Given the description of an element on the screen output the (x, y) to click on. 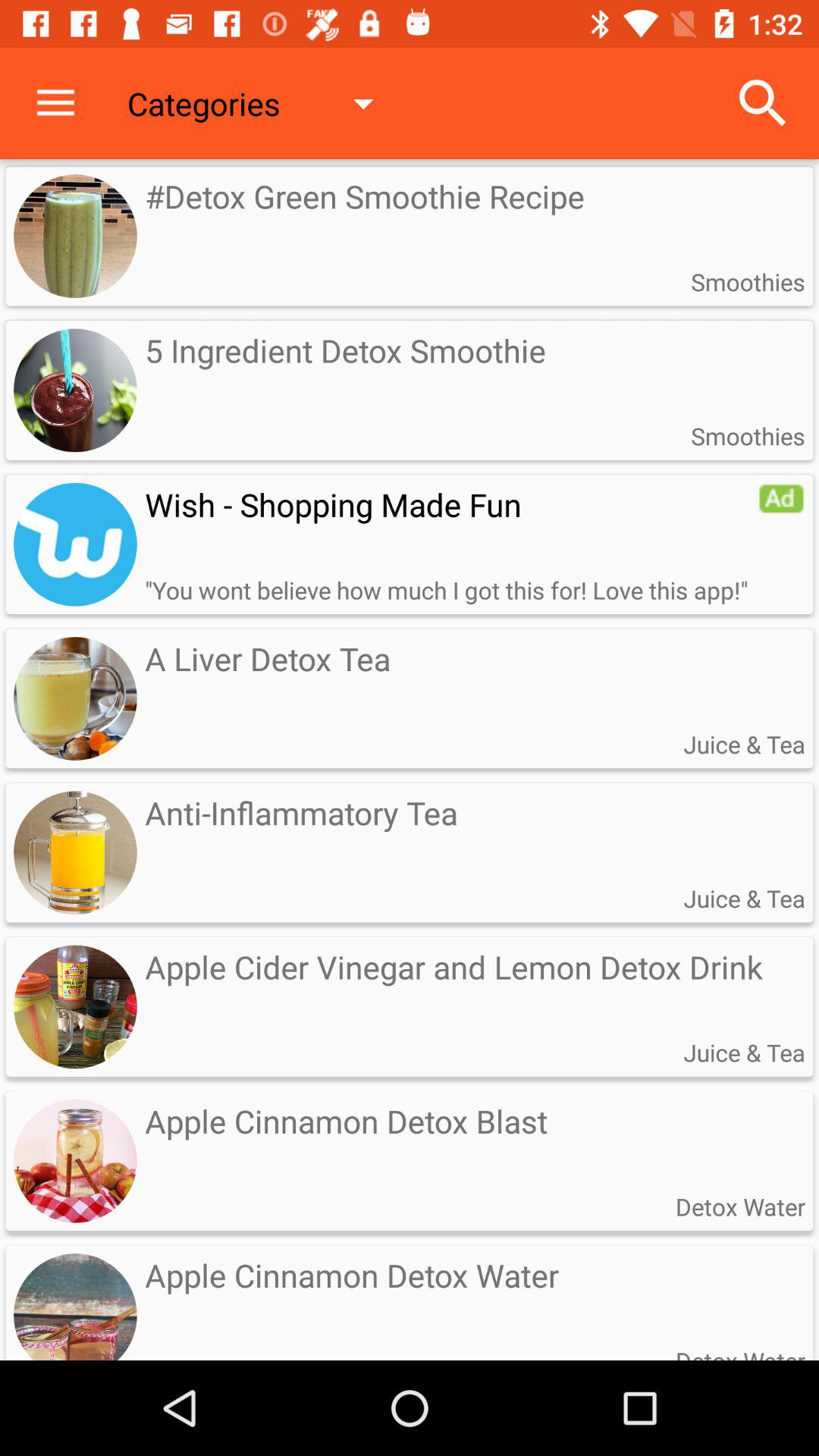
select the item to the left of the categories icon (55, 103)
